Given the description of an element on the screen output the (x, y) to click on. 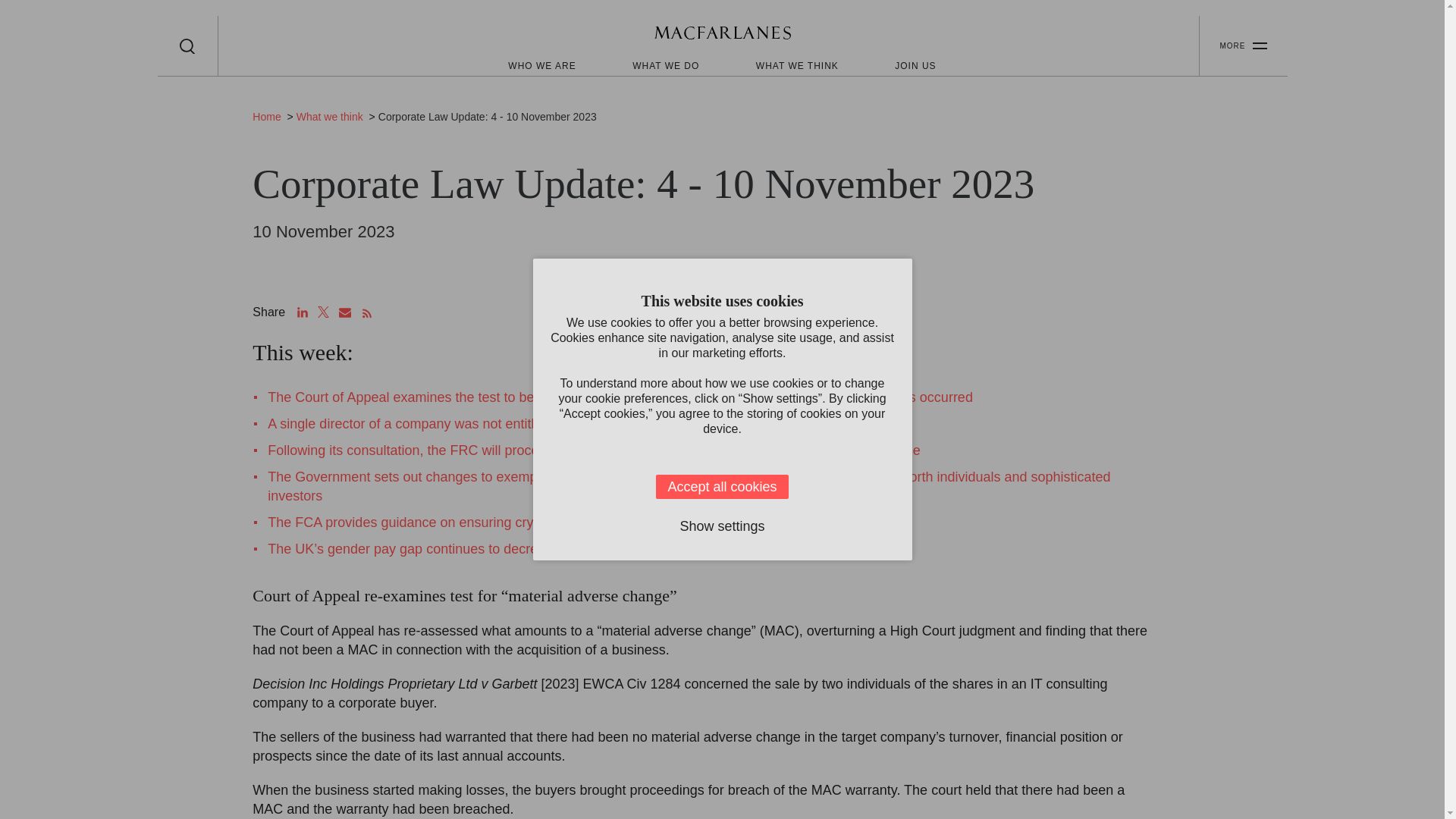
Search (187, 46)
MACFARLANES (721, 35)
WHO WE ARE (541, 65)
WHAT WE THINK (796, 65)
WHAT WE DO (664, 65)
